Given the description of an element on the screen output the (x, y) to click on. 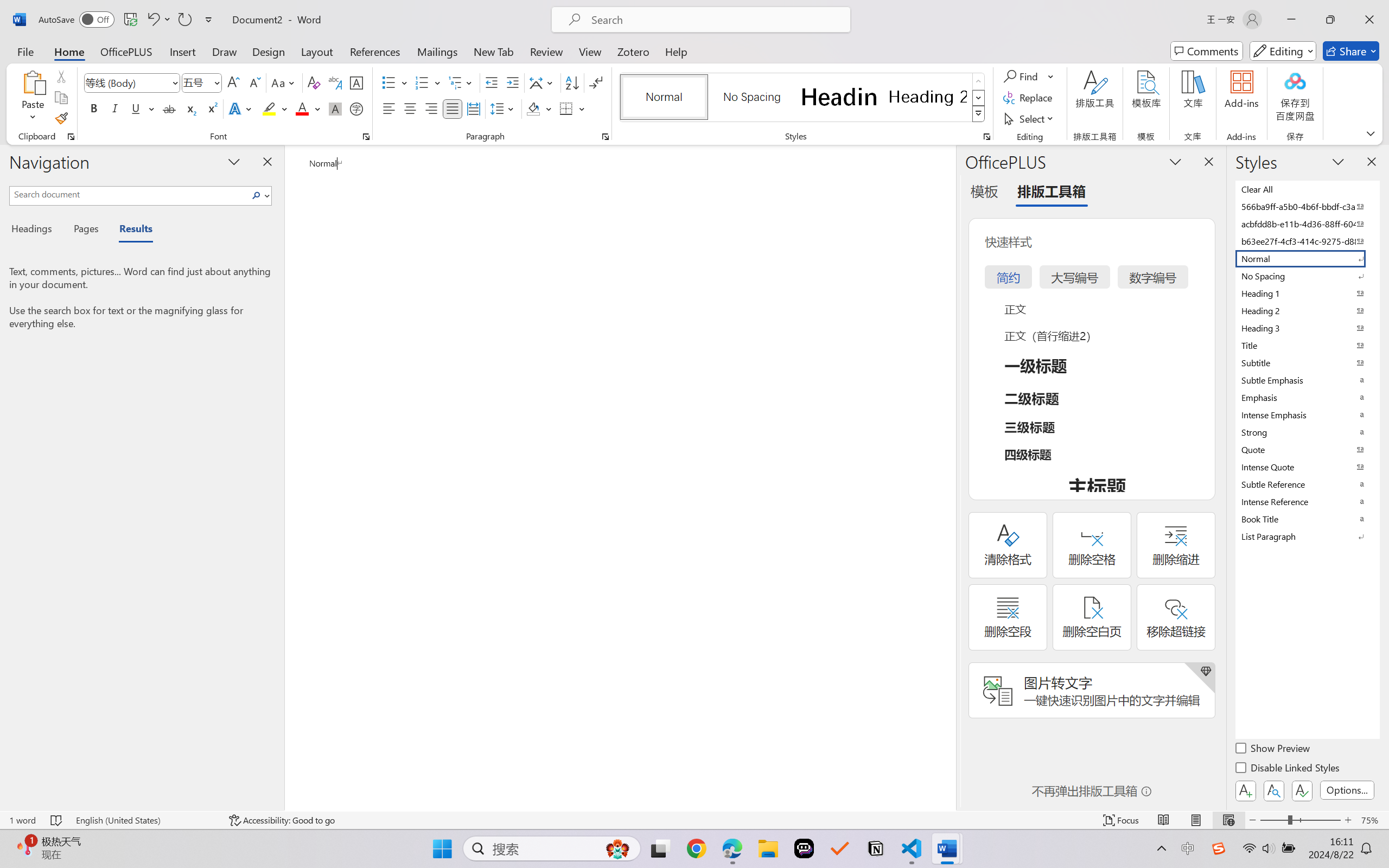
Shrink Font (253, 82)
Class: MsoCommandBar (694, 819)
Strikethrough (169, 108)
No Spacing (1306, 275)
Text Highlight Color (274, 108)
Strong (1306, 431)
Intense Quote (1306, 466)
